Given the description of an element on the screen output the (x, y) to click on. 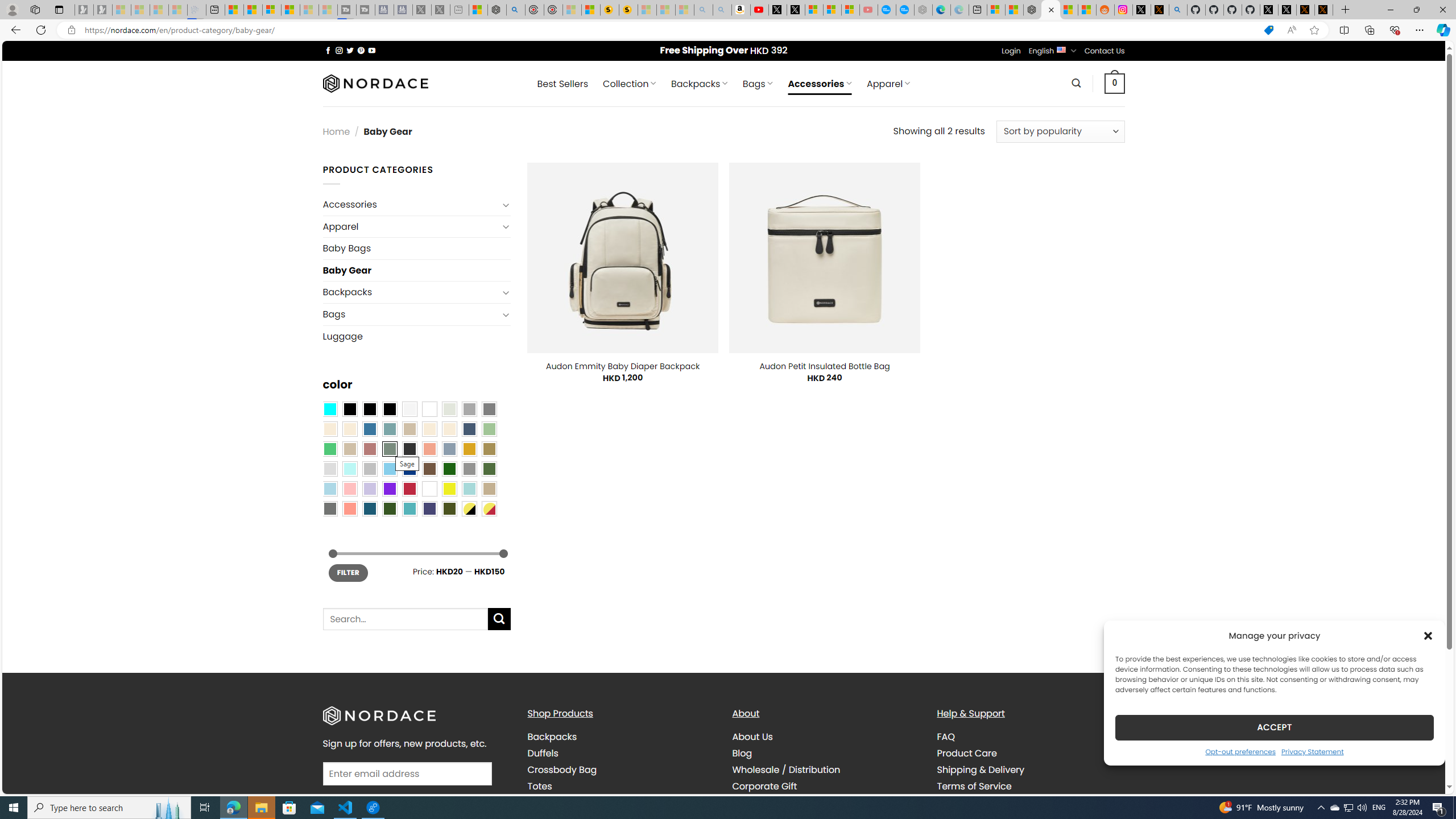
Totes (620, 785)
Baby Gear (416, 269)
Corporate Gift (826, 785)
Charcoal (408, 448)
Black (369, 408)
Army Green (449, 508)
Yellow (449, 488)
Wholesale / Distribution (786, 770)
